Given the description of an element on the screen output the (x, y) to click on. 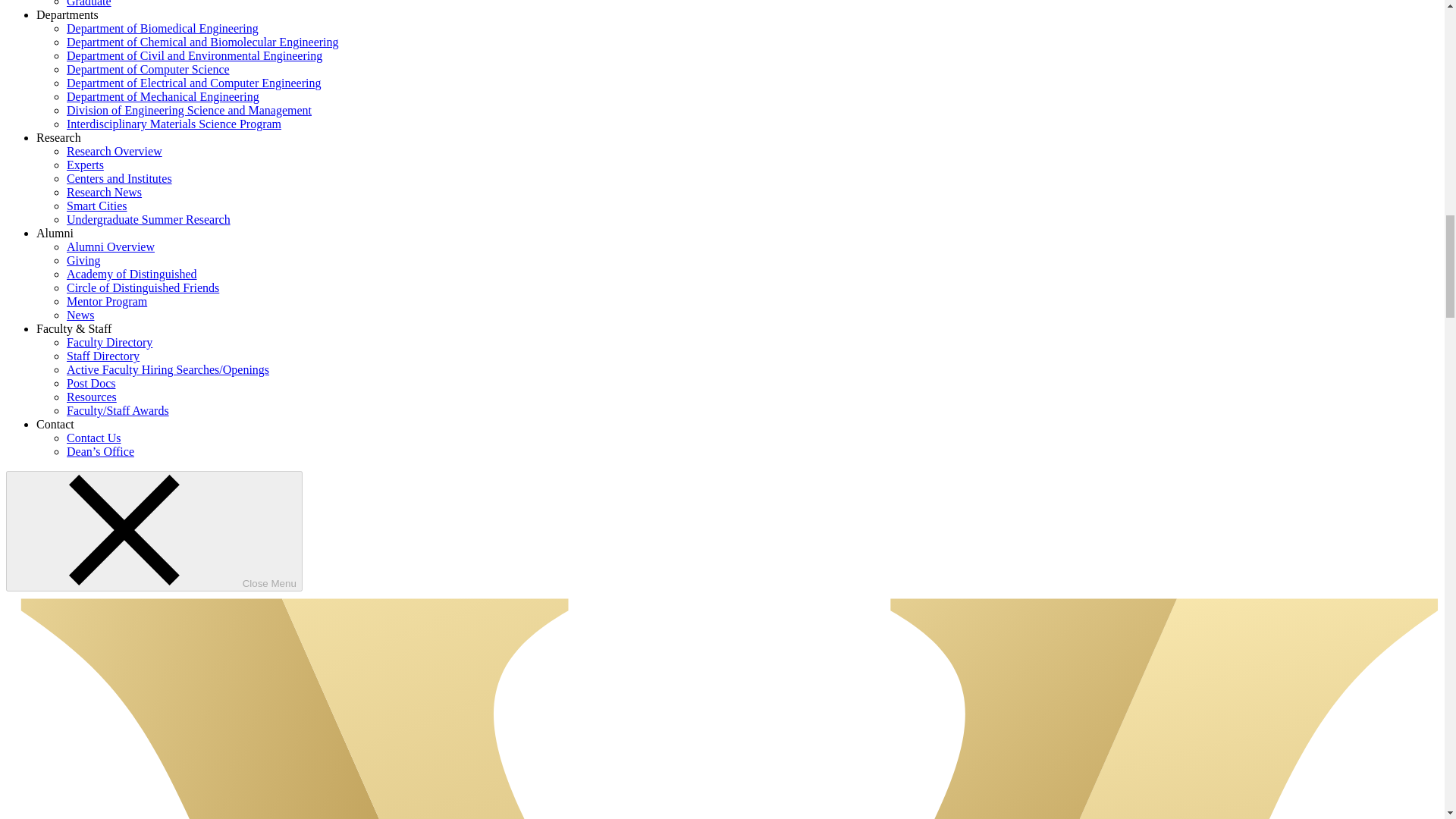
Research News (103, 192)
Academy of Distinguished (131, 273)
Research (58, 137)
Alumni Overview (110, 246)
Experts (84, 164)
Centers and Institutes (118, 178)
Department of Mechanical Engineering (162, 96)
Department of Civil and Environmental Engineering (193, 55)
Graduate (89, 3)
Alumni (55, 232)
Department of Chemical and Biomolecular Engineering (202, 42)
Department of Computer Science (148, 69)
Department of Electrical and Computer Engineering (193, 82)
Departments (67, 14)
Circle of Distinguished Friends (142, 287)
